Given the description of an element on the screen output the (x, y) to click on. 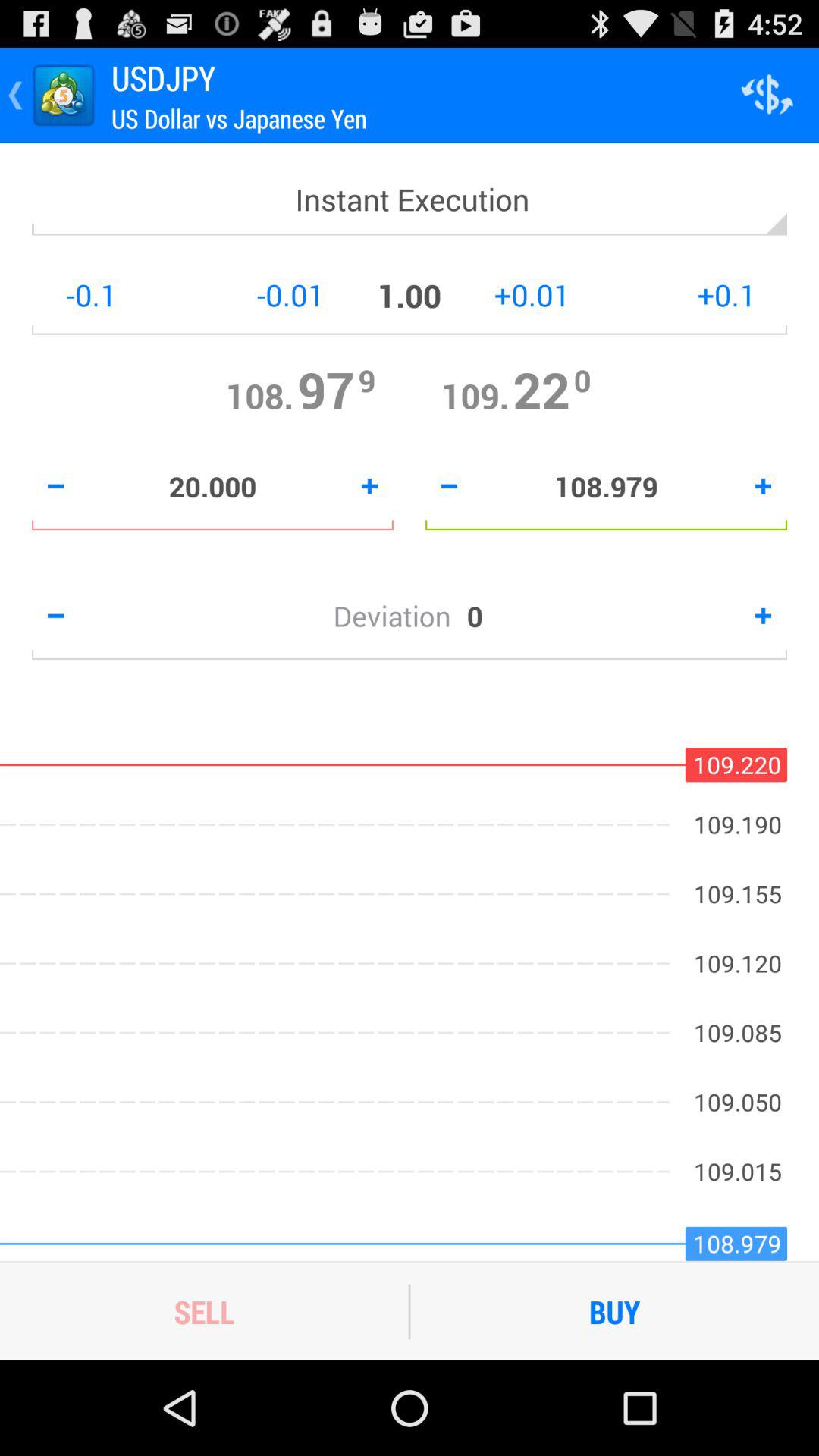
flip to 108.979 (606, 486)
